Given the description of an element on the screen output the (x, y) to click on. 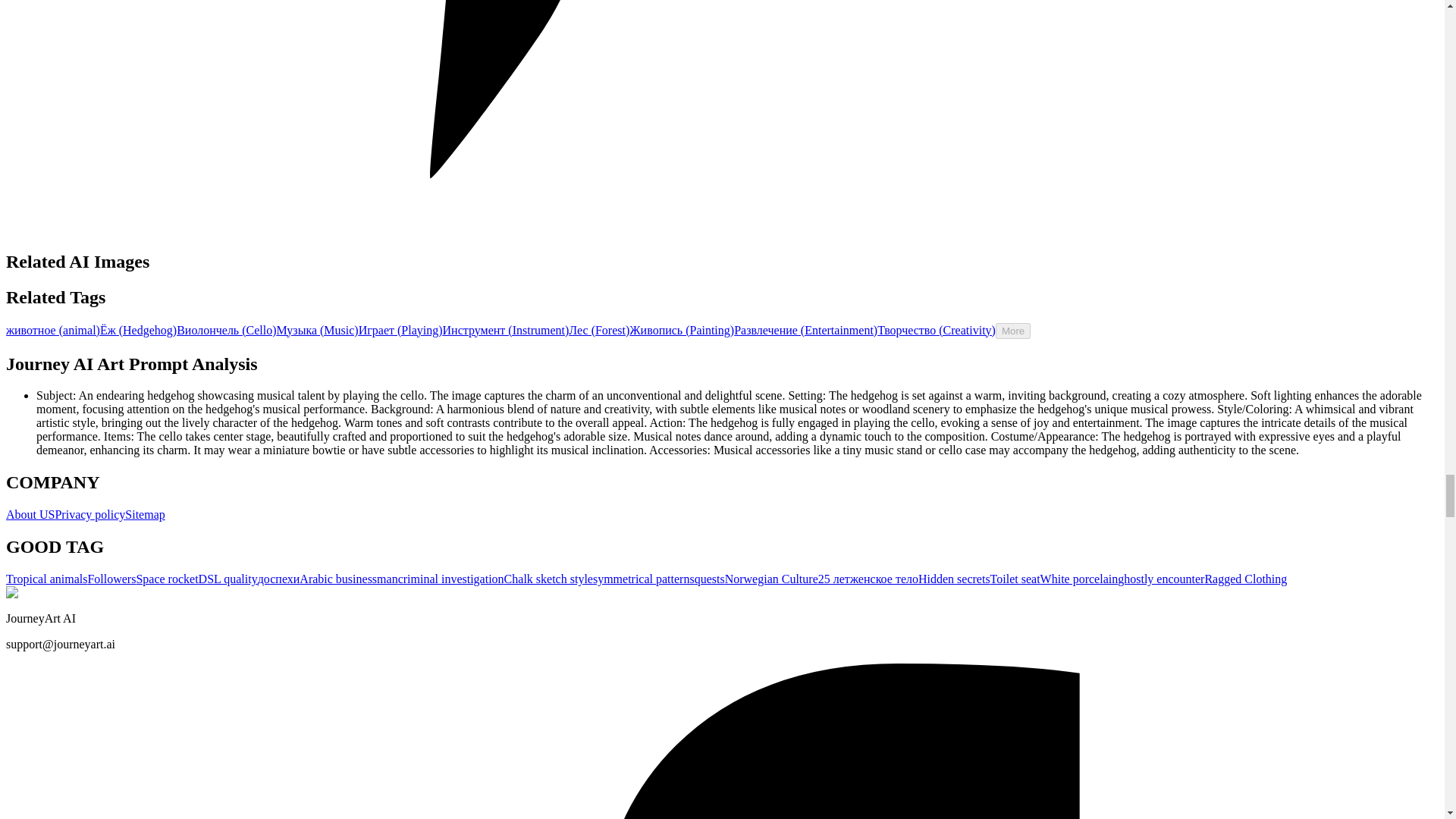
Privacy policy (90, 513)
Hidden secrets (954, 578)
Sitemap (144, 513)
DSL quality (227, 578)
Sitemap (144, 513)
Followers (111, 578)
Arabic businessman (348, 578)
Arabic businessman (348, 578)
ghostly encounter (1161, 578)
Privacy policy (90, 513)
